Given the description of an element on the screen output the (x, y) to click on. 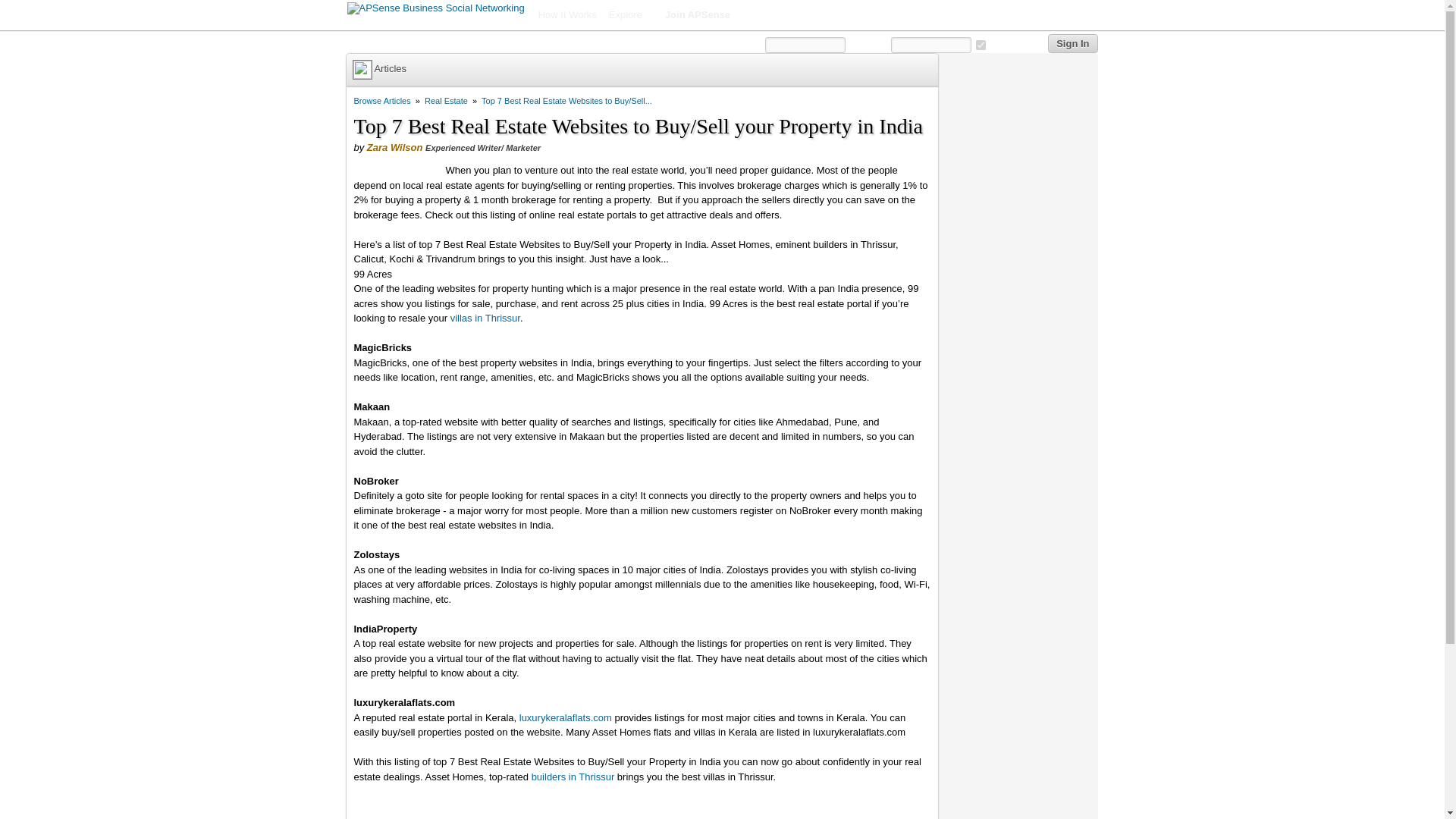
luxurykeralaflats.com (565, 717)
Browse Articles (381, 100)
Zara Wilson (394, 147)
Explore (630, 15)
villas in Thrissur (484, 317)
1 (980, 44)
Real Estate (446, 100)
Sign In (1072, 43)
builders in Thrissur (572, 776)
Join APSense (697, 15)
How It Works (567, 15)
